Given the description of an element on the screen output the (x, y) to click on. 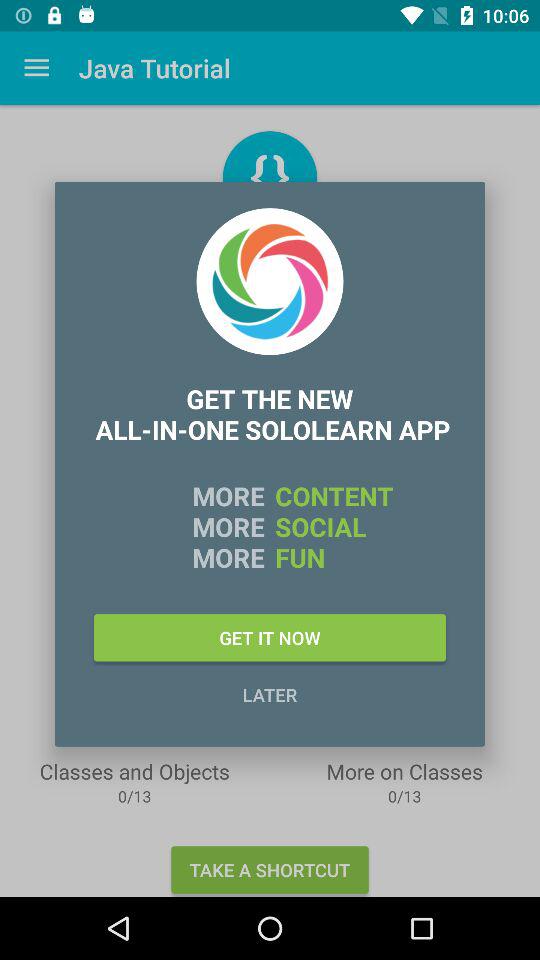
tap the icon below the get it now icon (269, 694)
